Given the description of an element on the screen output the (x, y) to click on. 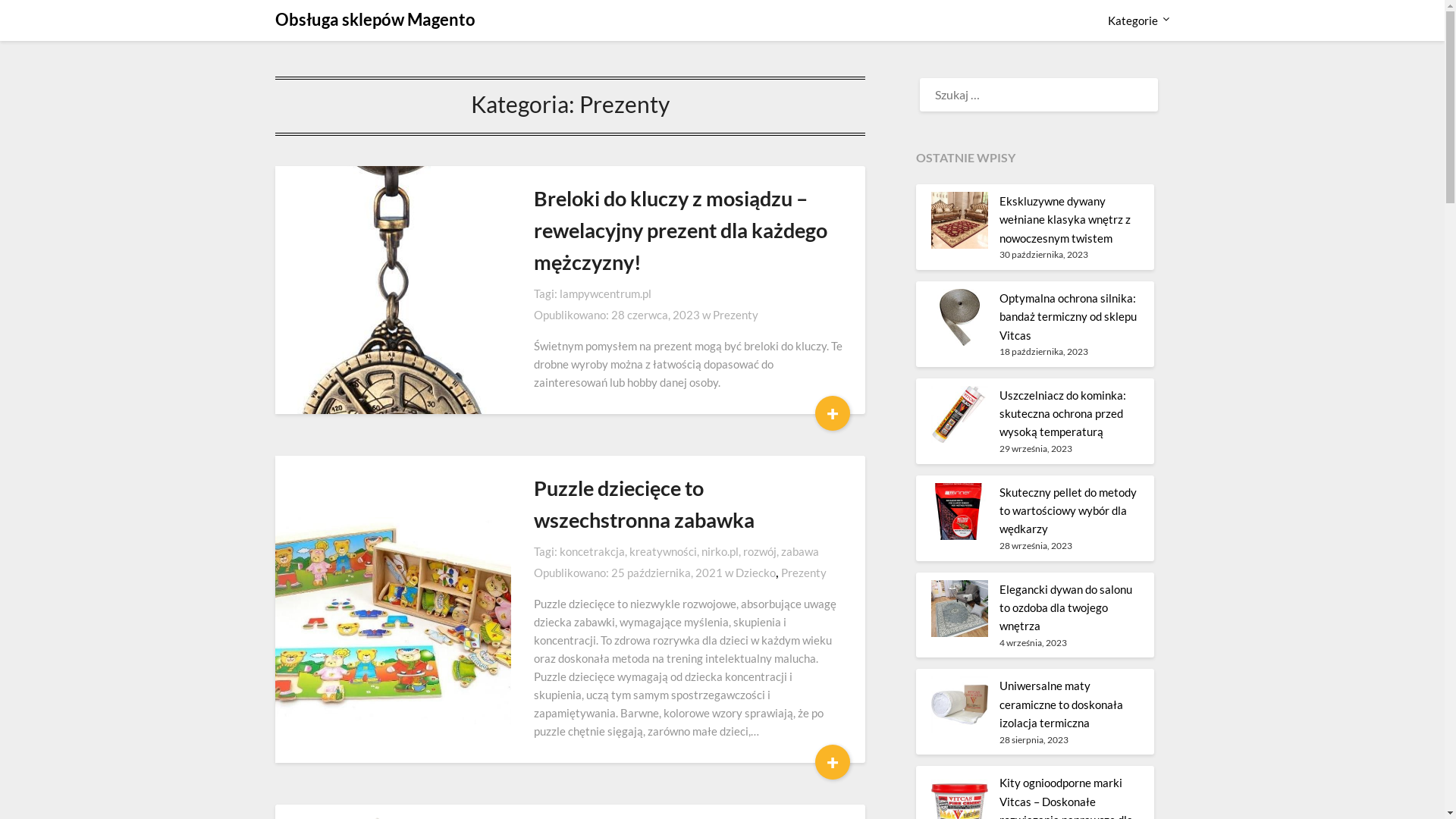
zabawa Element type: text (800, 551)
+ Element type: text (832, 412)
Szukaj Element type: text (36, 21)
Kategorie Element type: text (1132, 20)
+ Element type: text (832, 761)
Prezenty Element type: text (803, 572)
28 czerwca, 2023 Element type: text (655, 314)
Prezenty Element type: text (735, 314)
lampywcentrum.pl Element type: text (605, 293)
nirko.pl Element type: text (719, 551)
koncetrakcja Element type: text (591, 551)
Dziecko Element type: text (755, 572)
